Given the description of an element on the screen output the (x, y) to click on. 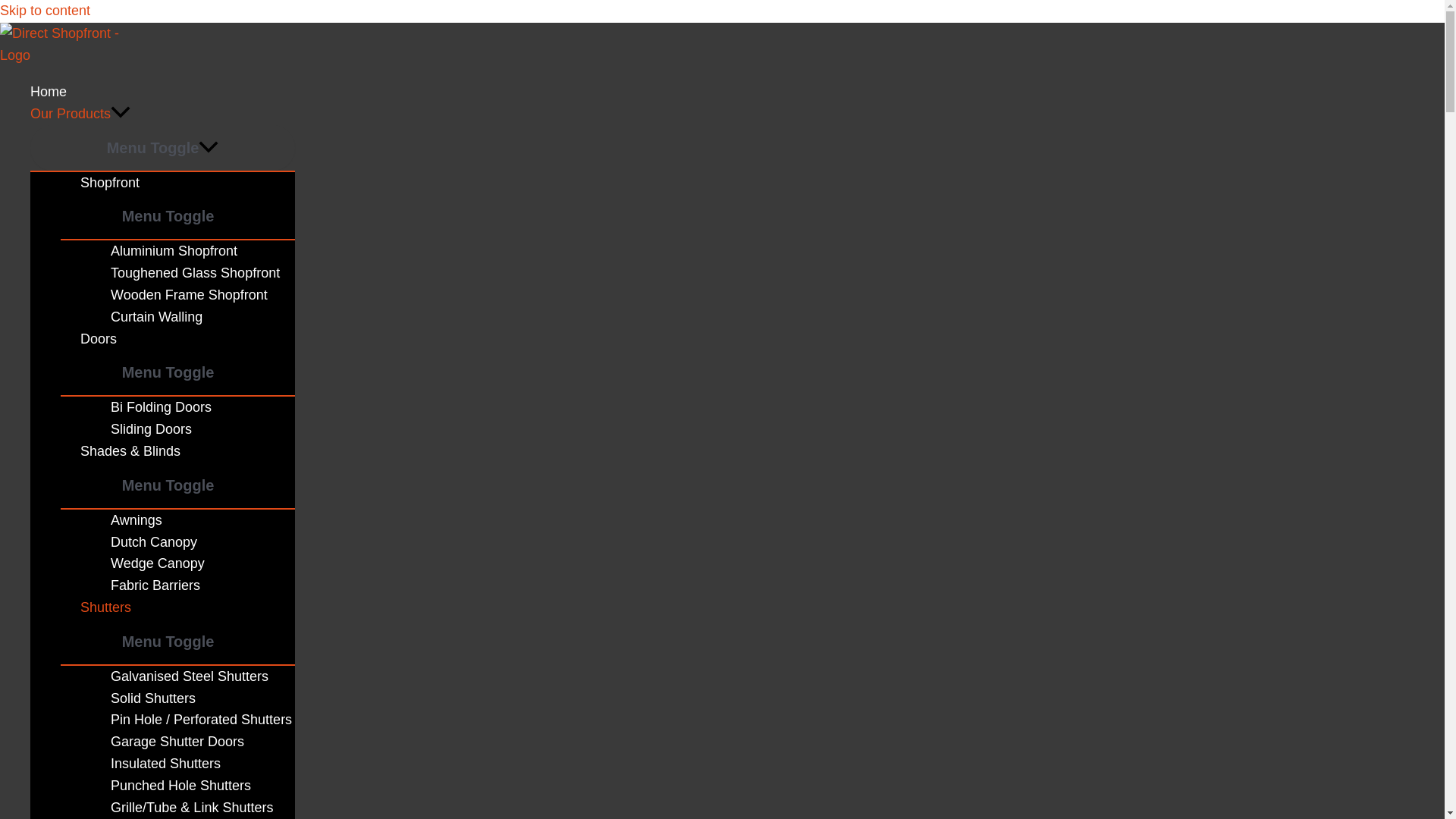
Skip to content (45, 10)
Garage Shutter Doors (192, 741)
Punched Hole Shutters (192, 785)
Home (162, 92)
Shopfront (178, 182)
Dutch Canopy (192, 542)
Menu Toggle (178, 641)
Menu Toggle (178, 484)
Menu Toggle (162, 147)
Galvanised Steel Shutters (192, 676)
Toughened Glass Shopfront (192, 273)
Aluminium Shopfront (192, 251)
Skip to content (45, 10)
Shutters (178, 608)
Sliding Doors (192, 429)
